Given the description of an element on the screen output the (x, y) to click on. 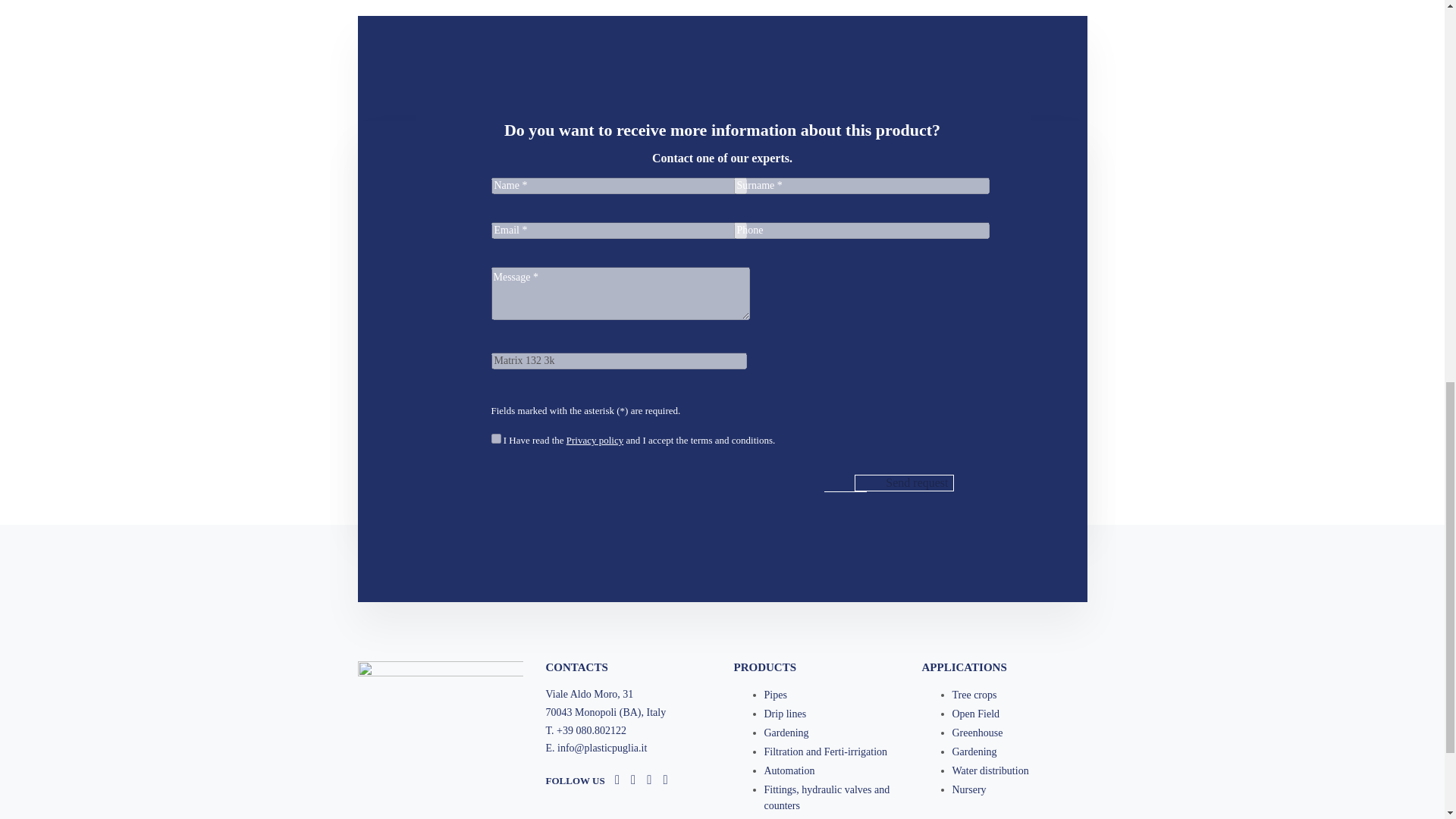
1 (496, 438)
Send request (903, 483)
Matrix 132 3k (619, 360)
